Given the description of an element on the screen output the (x, y) to click on. 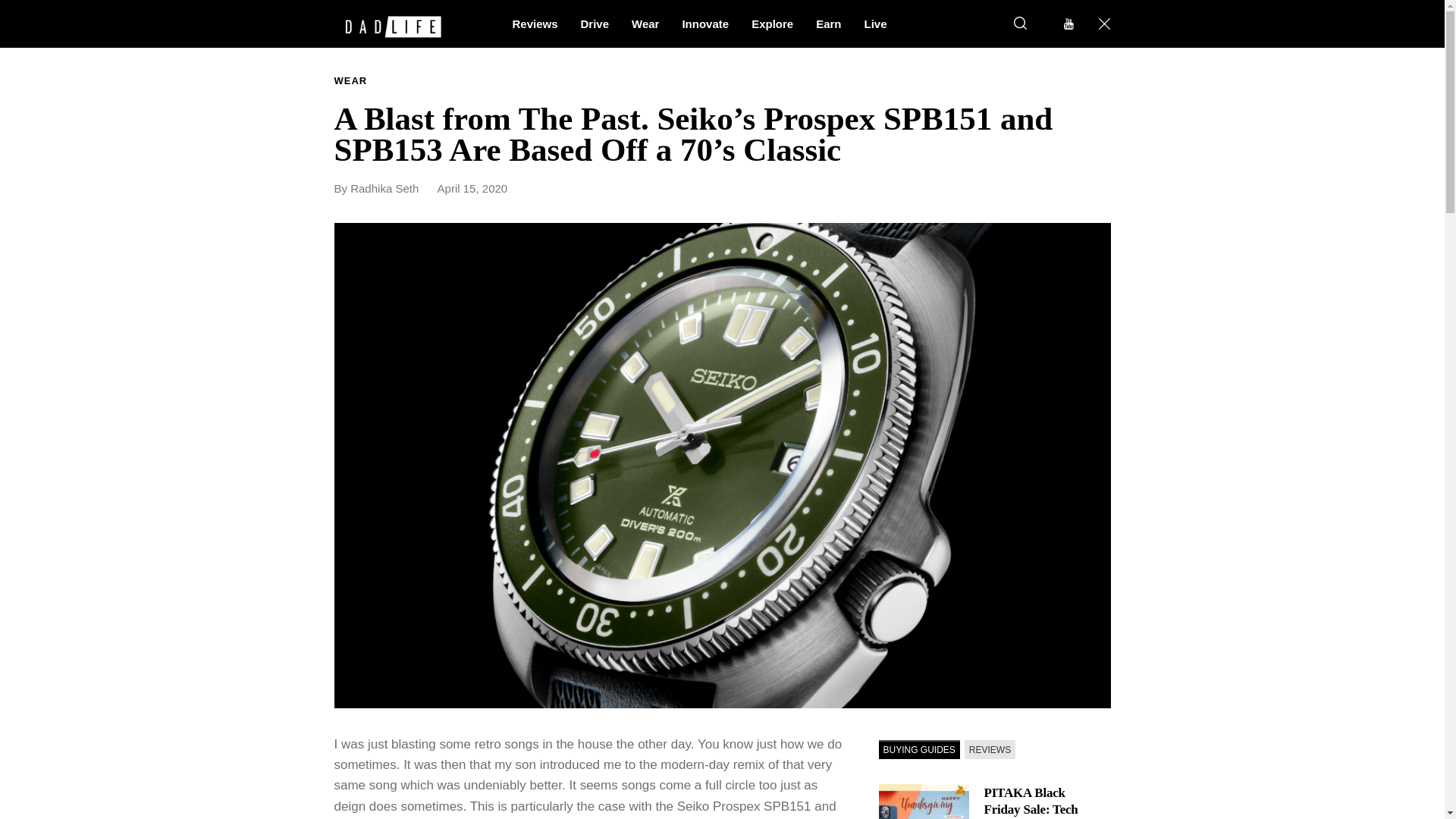
Drive (594, 22)
Wear (644, 22)
Explore (772, 22)
Innovate (704, 22)
Live (875, 22)
BUYING GUIDES (918, 749)
By Radhika Seth (383, 187)
Reviews (534, 22)
REVIEWS (988, 749)
WEAR (349, 81)
Earn (828, 22)
